Given the description of an element on the screen output the (x, y) to click on. 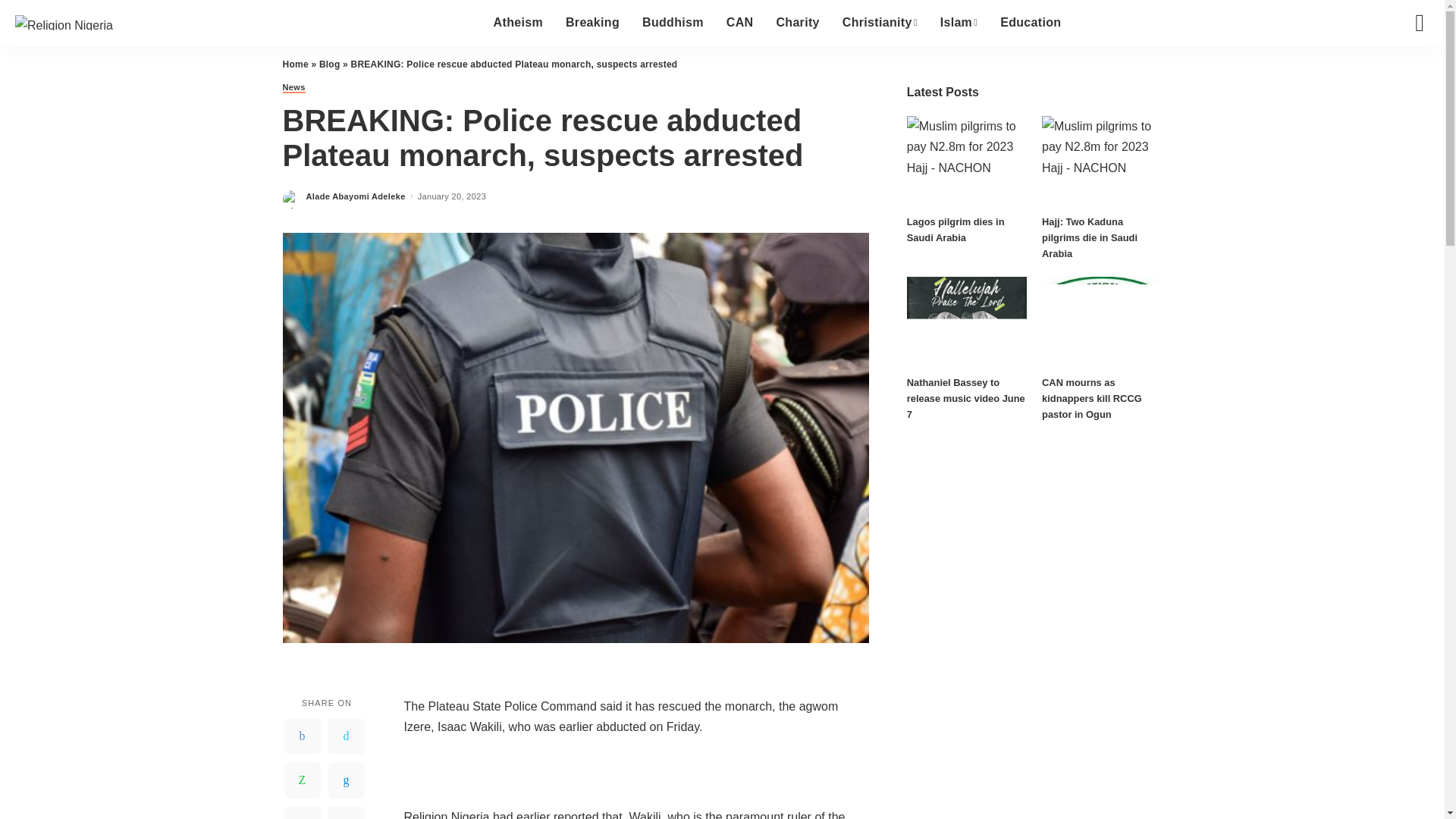
Breaking (592, 22)
Buddhism (672, 22)
Atheism (517, 22)
Religion Nigeria (63, 22)
Charity (796, 22)
CAN (739, 22)
